Given the description of an element on the screen output the (x, y) to click on. 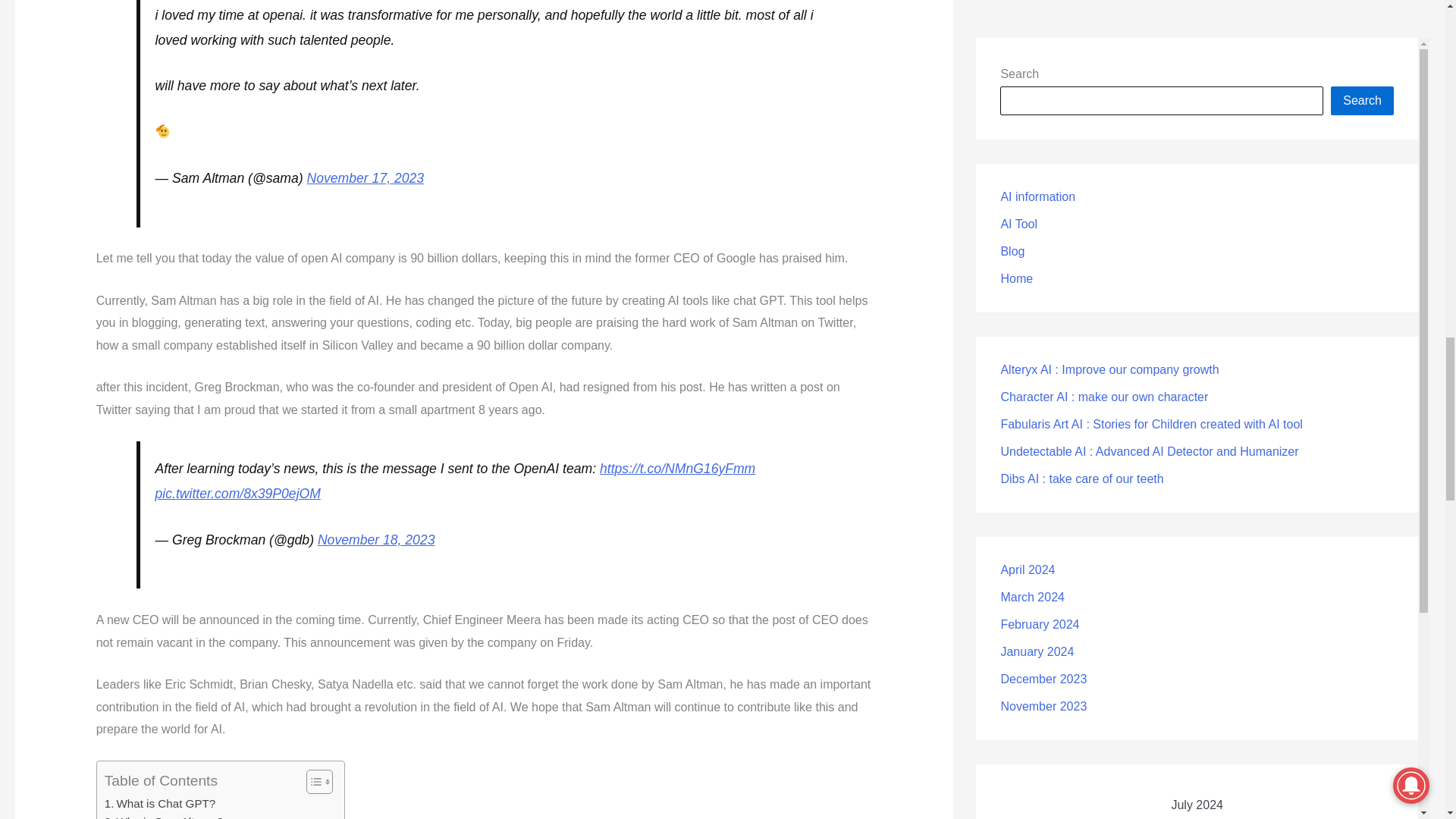
Who is Sam Altman? (164, 816)
November 18, 2023 (376, 539)
What is Chat GPT? (159, 803)
What is Chat GPT? (159, 803)
November 17, 2023 (366, 177)
Who is Sam Altman? (164, 816)
